Given the description of an element on the screen output the (x, y) to click on. 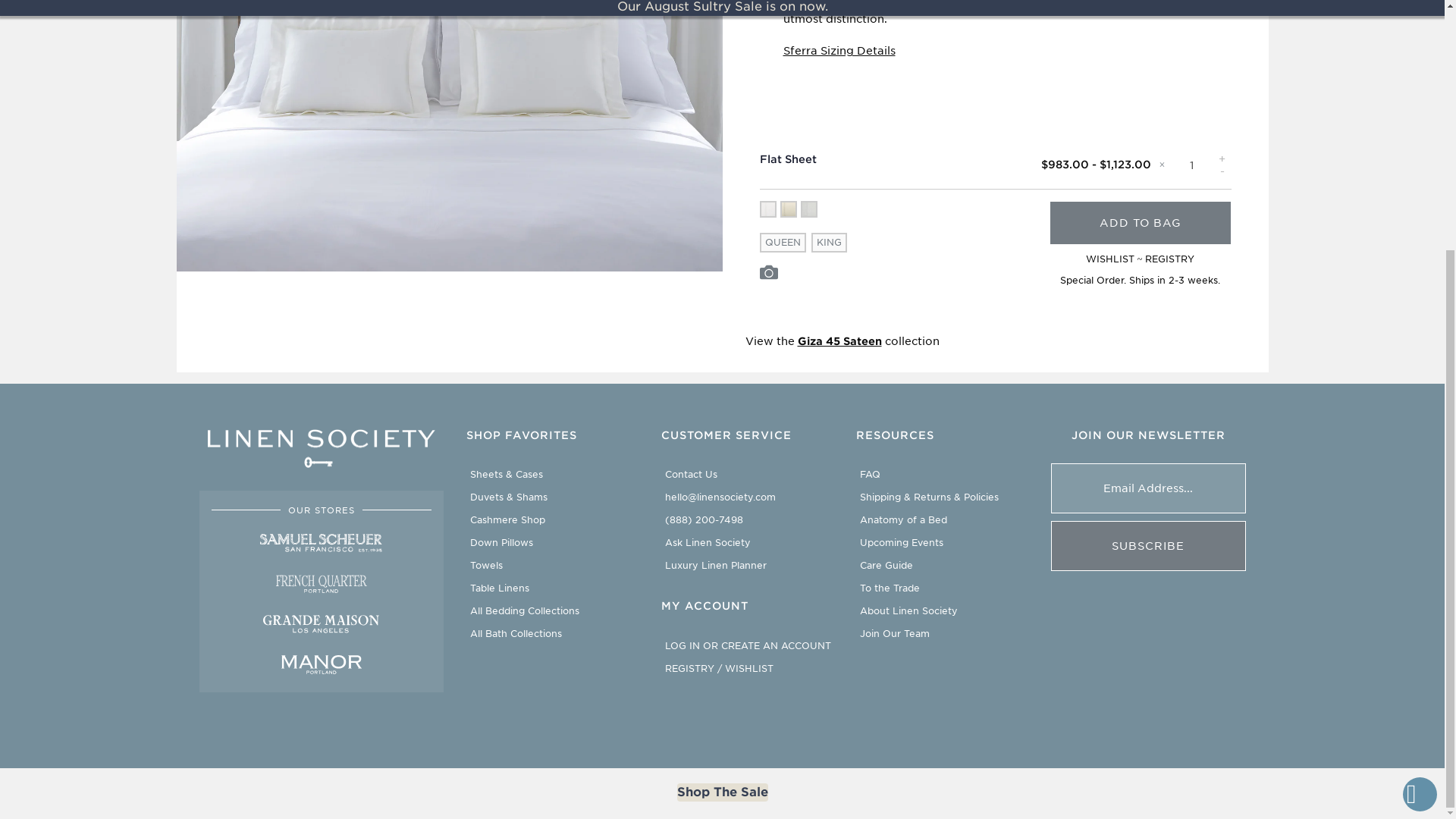
French Quarter Linens (321, 583)
Subscribe (1148, 545)
1 (1191, 165)
Grand Maison (321, 624)
Sferra Sizing Details (839, 50)
Samuel Scheuer (321, 543)
Luxury Linen Planner (716, 564)
